Given the description of an element on the screen output the (x, y) to click on. 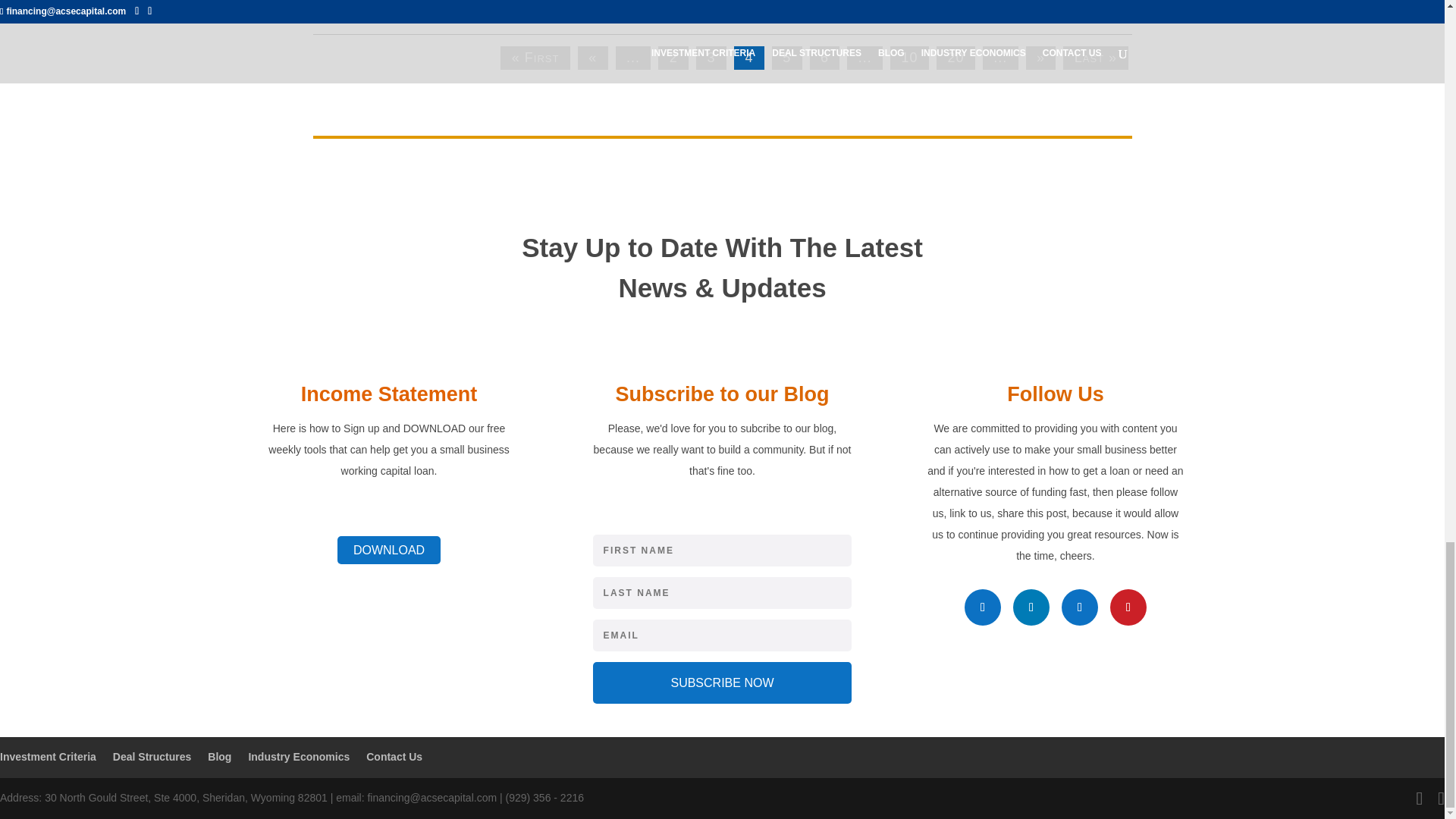
Page 6 (824, 57)
Follow on LinkedIn (1031, 606)
Follow on Twitter (1079, 606)
Page 5 (786, 57)
Follow on Pinterest (1128, 606)
Follow on Facebook (982, 606)
Page 10 (908, 57)
Page 3 (710, 57)
Page 20 (955, 57)
Page 2 (673, 57)
